Given the description of an element on the screen output the (x, y) to click on. 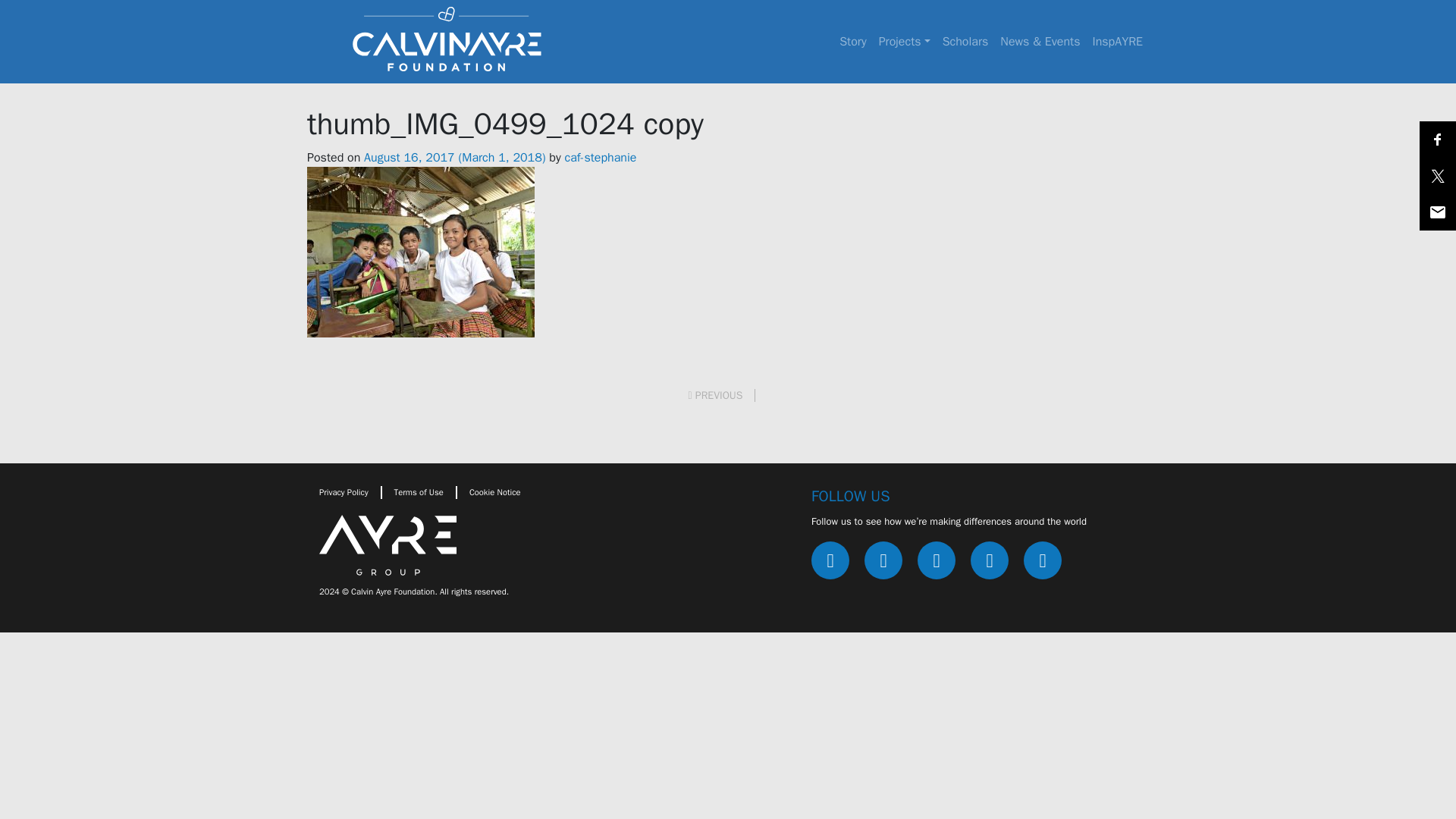
Scholars (965, 41)
 PREVIOUS (721, 395)
Projects (904, 41)
Scholars (965, 41)
our-story (852, 41)
Projects (904, 41)
InspAYRE (1117, 41)
Story (852, 41)
InspAYRE (1117, 41)
caf-stephanie (600, 157)
